Given the description of an element on the screen output the (x, y) to click on. 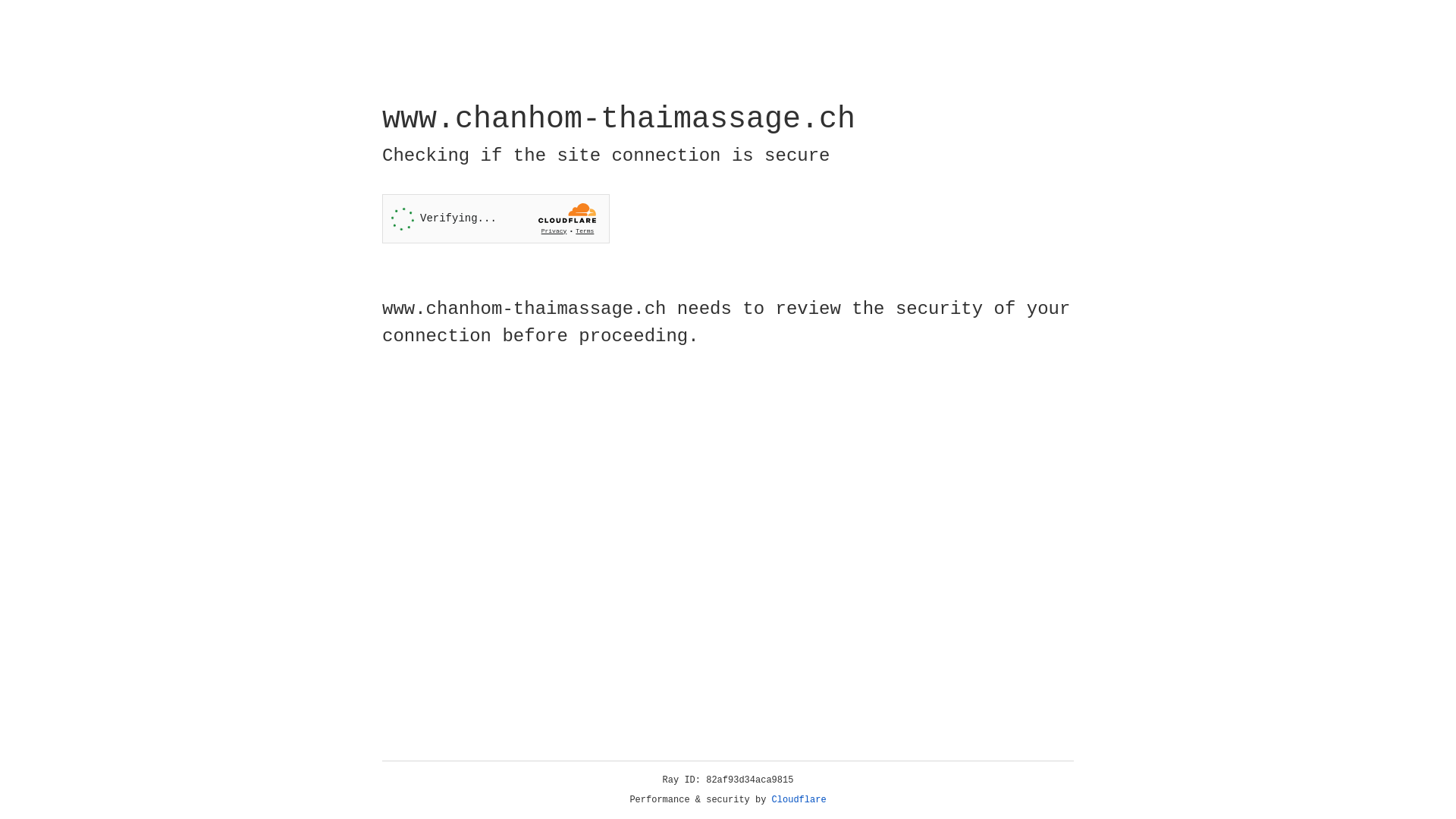
Widget containing a Cloudflare security challenge Element type: hover (495, 218)
Cloudflare Element type: text (798, 799)
